Given the description of an element on the screen output the (x, y) to click on. 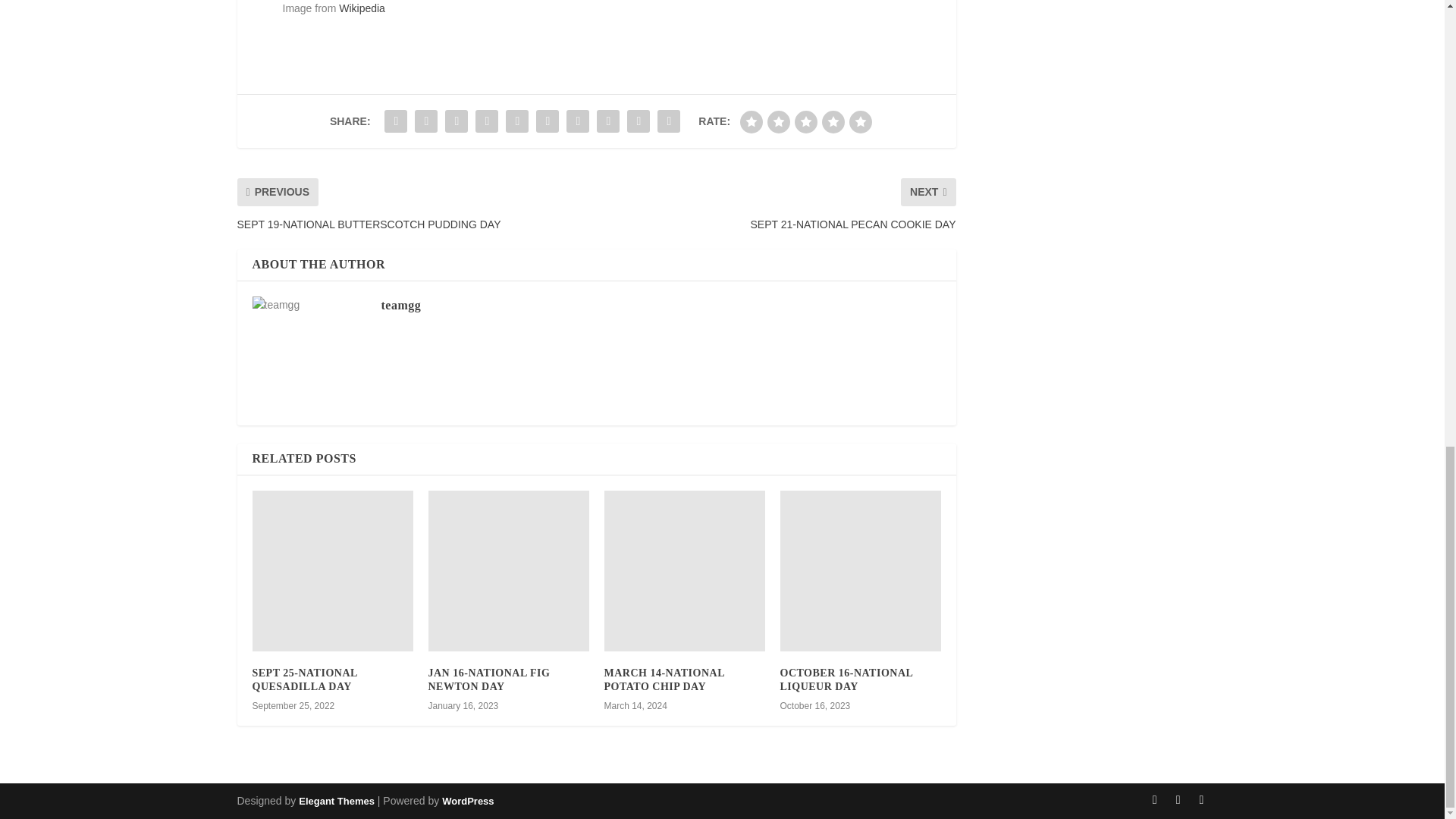
Share "SEPT 20-NATIONAL RUM PUNCH DAY" via Facebook (395, 121)
JAN 16-NATIONAL FIG NEWTON DAY (489, 679)
Share "SEPT 20-NATIONAL RUM PUNCH DAY" via Stumbleupon (607, 121)
good (833, 121)
poor (778, 121)
regular (805, 121)
Share "SEPT 20-NATIONAL RUM PUNCH DAY" via Twitter (425, 121)
OCTOBER 16-NATIONAL LIQUEUR DAY (845, 679)
Share "SEPT 20-NATIONAL RUM PUNCH DAY" via Email (638, 121)
MARCH 14-NATIONAL POTATO CHIP DAY (663, 679)
teamgg (400, 305)
Share "SEPT 20-NATIONAL RUM PUNCH DAY" via Tumblr (486, 121)
Share "SEPT 20-NATIONAL RUM PUNCH DAY" via Buffer (577, 121)
Share "SEPT 20-NATIONAL RUM PUNCH DAY" via LinkedIn (547, 121)
Wikipedia (362, 8)
